Given the description of an element on the screen output the (x, y) to click on. 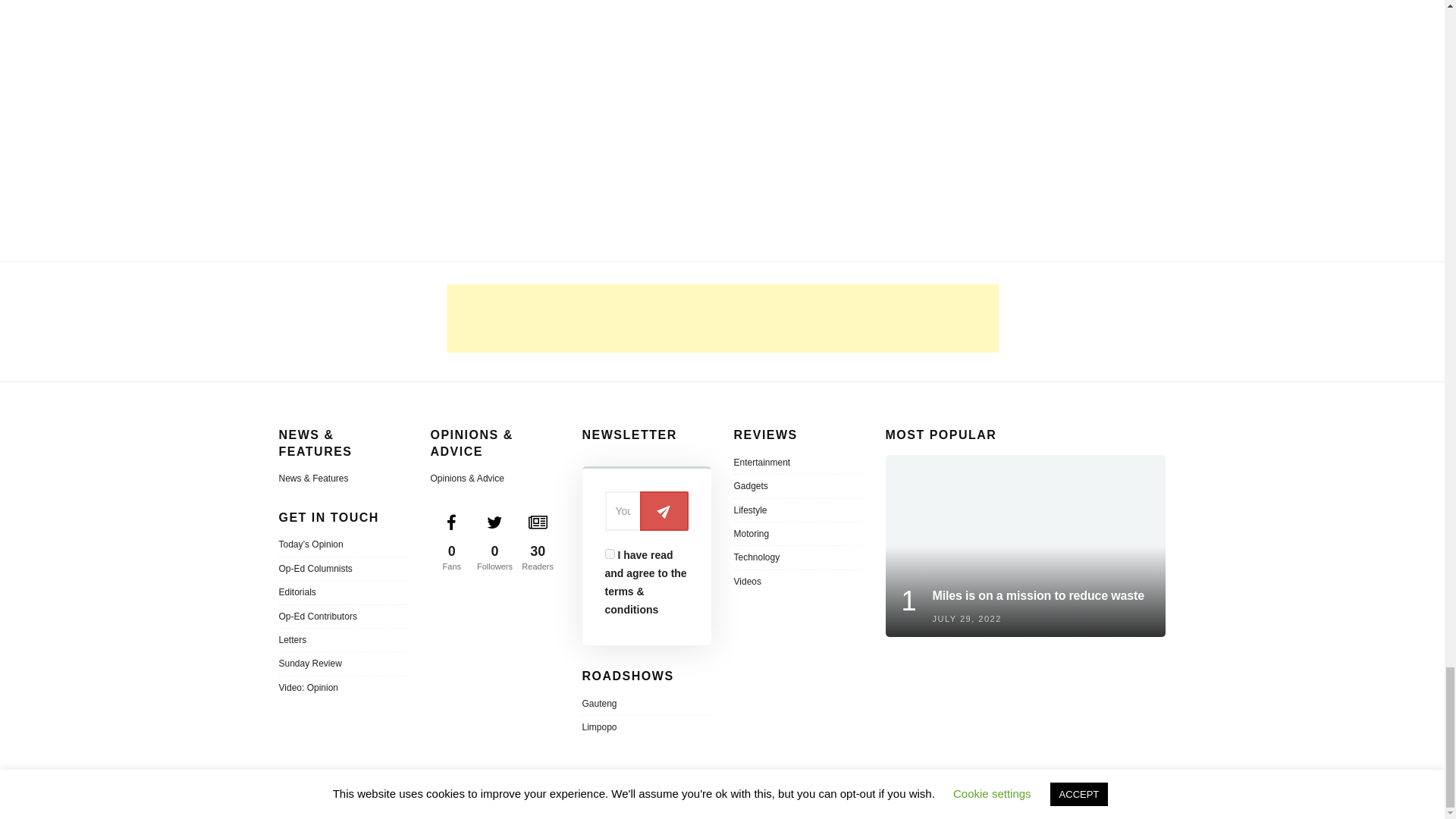
1 (609, 553)
